Given the description of an element on the screen output the (x, y) to click on. 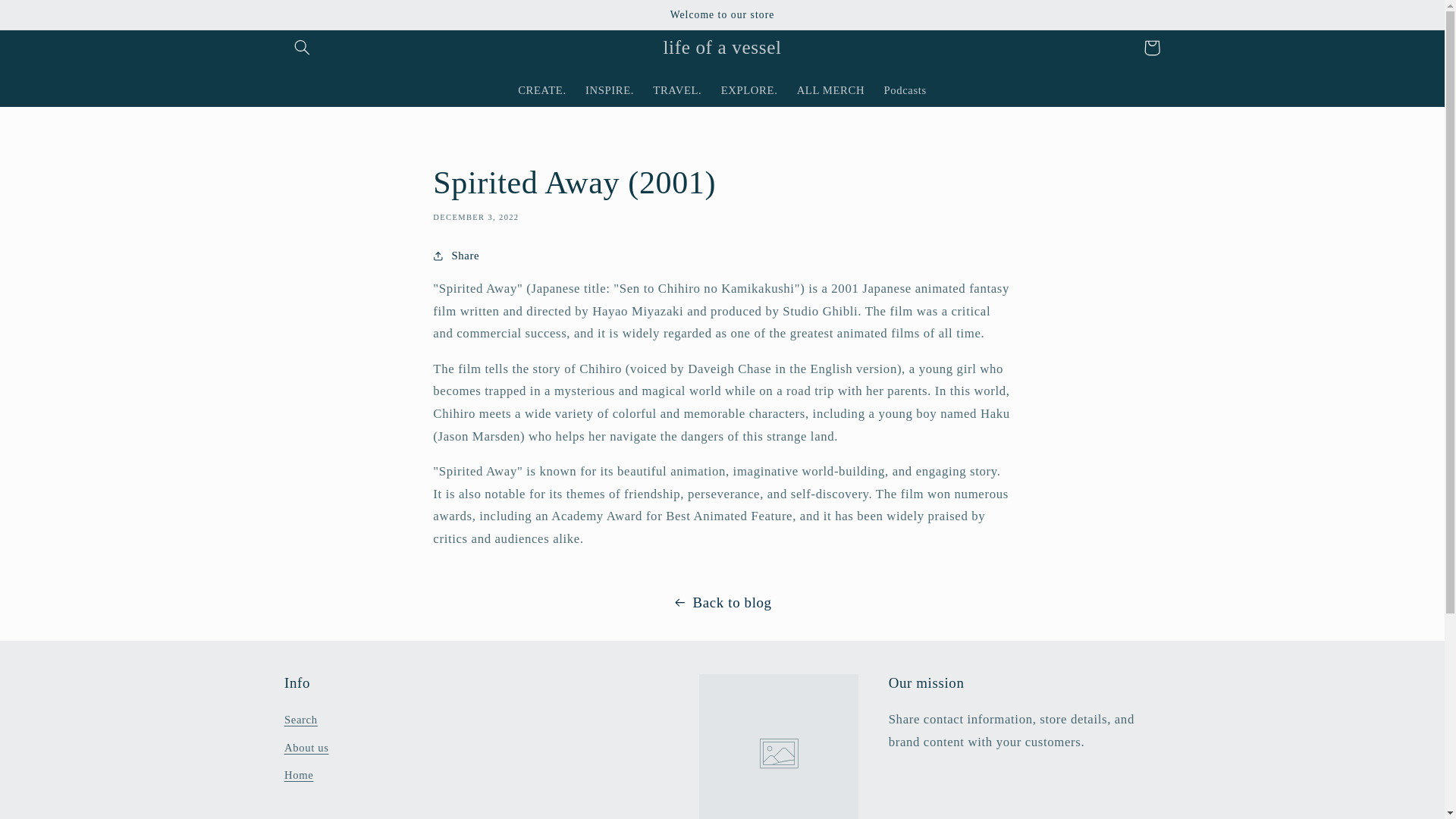
CREATE. (542, 90)
life of a vessel (721, 47)
TRAVEL. (677, 90)
Podcasts (905, 90)
INSPIRE. (609, 90)
About us (306, 747)
Home (298, 775)
EXPLORE. (749, 90)
ALL MERCH (831, 90)
Cart (1151, 47)
